Given the description of an element on the screen output the (x, y) to click on. 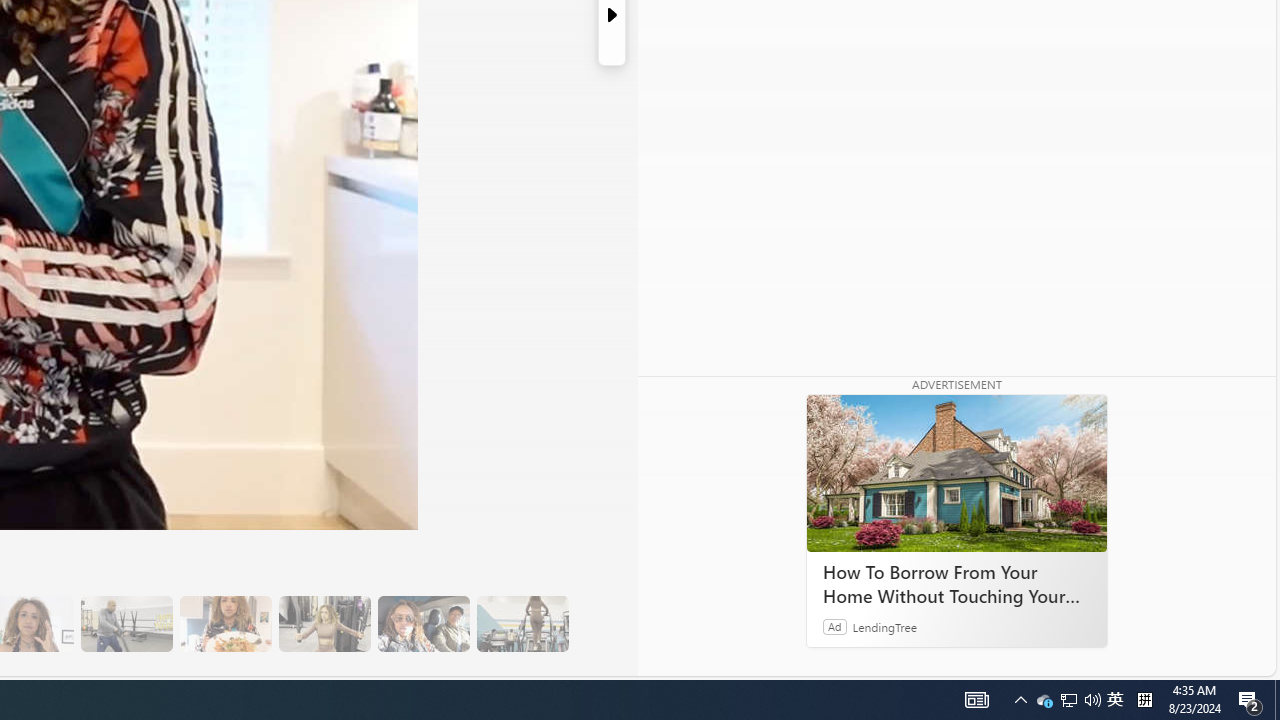
14 They Have Salmon and Veggies for Dinner (225, 624)
16 The Couple's Program Helps with Accountability (423, 624)
